Given the description of an element on the screen output the (x, y) to click on. 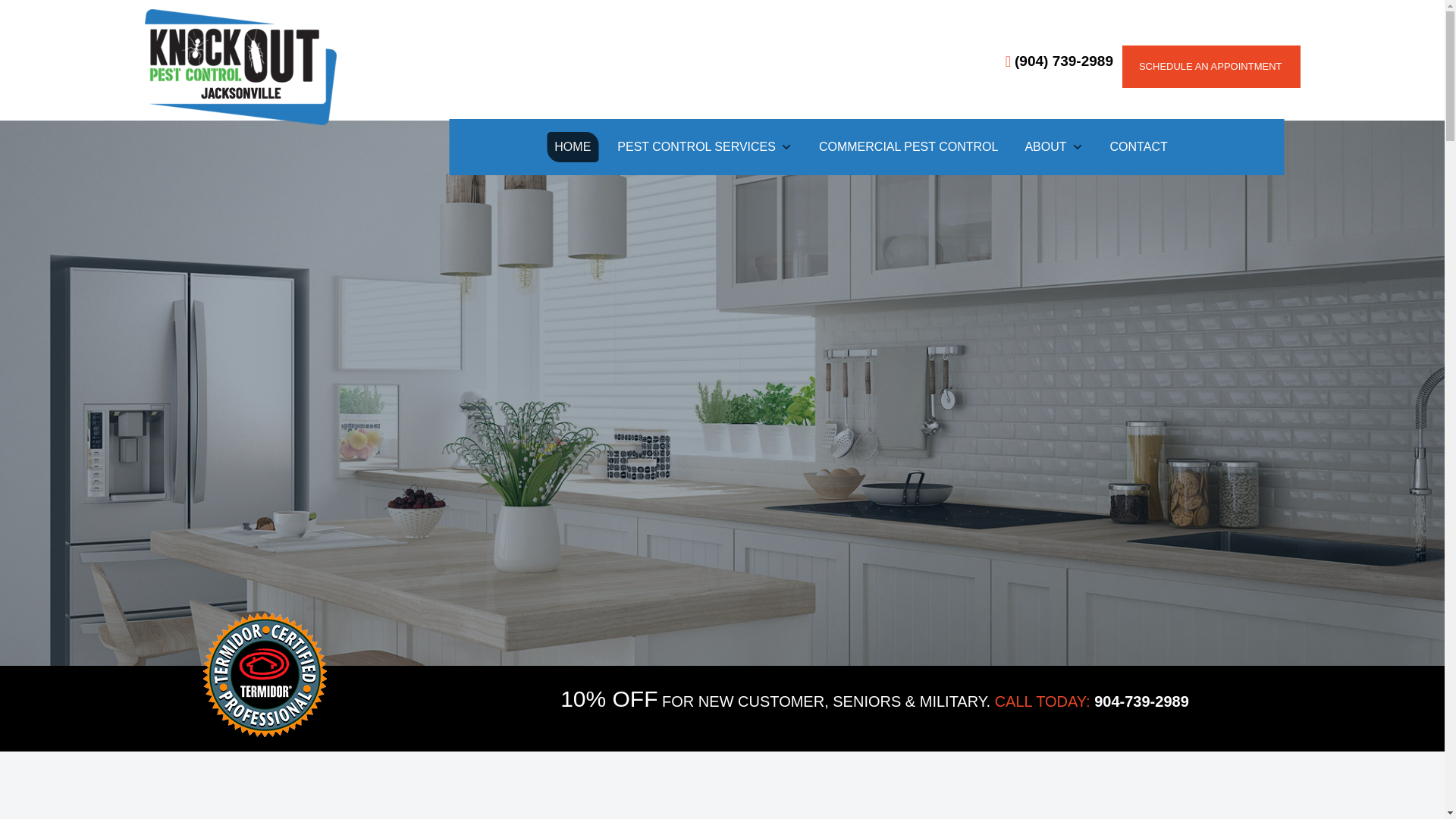
SCHEDULE AN APPOINTMENT (1208, 66)
COMMERCIAL PEST CONTROL (908, 146)
ABOUT (1053, 146)
PEST CONTROL SERVICES (704, 146)
logo-knockout-jacksonville (240, 66)
CONTACT (1138, 146)
HOME (572, 146)
CALL TODAY: 904-739-2989 (1091, 701)
logo-termidor (264, 674)
